Given the description of an element on the screen output the (x, y) to click on. 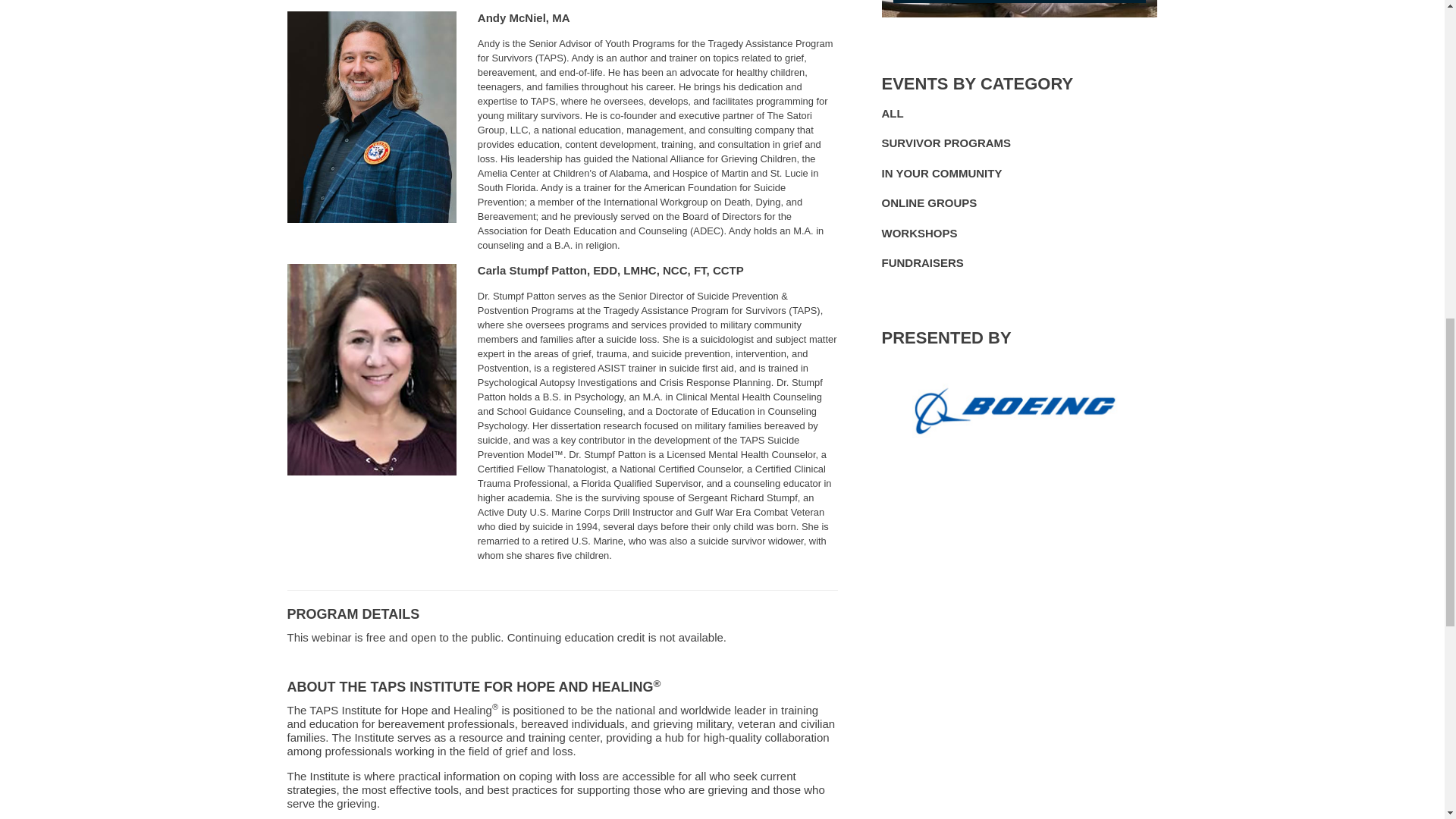
Master of Arts (560, 17)
Bachelor of Science (551, 396)
Doctor (574, 454)
Applied Suicide Intervention Skills Training (611, 367)
Master of Arts (652, 396)
Limited liability company (519, 129)
Doctor of Education (604, 269)
Doctor (782, 382)
Boeing Logo (1018, 408)
Doctor (483, 296)
